Given the description of an element on the screen output the (x, y) to click on. 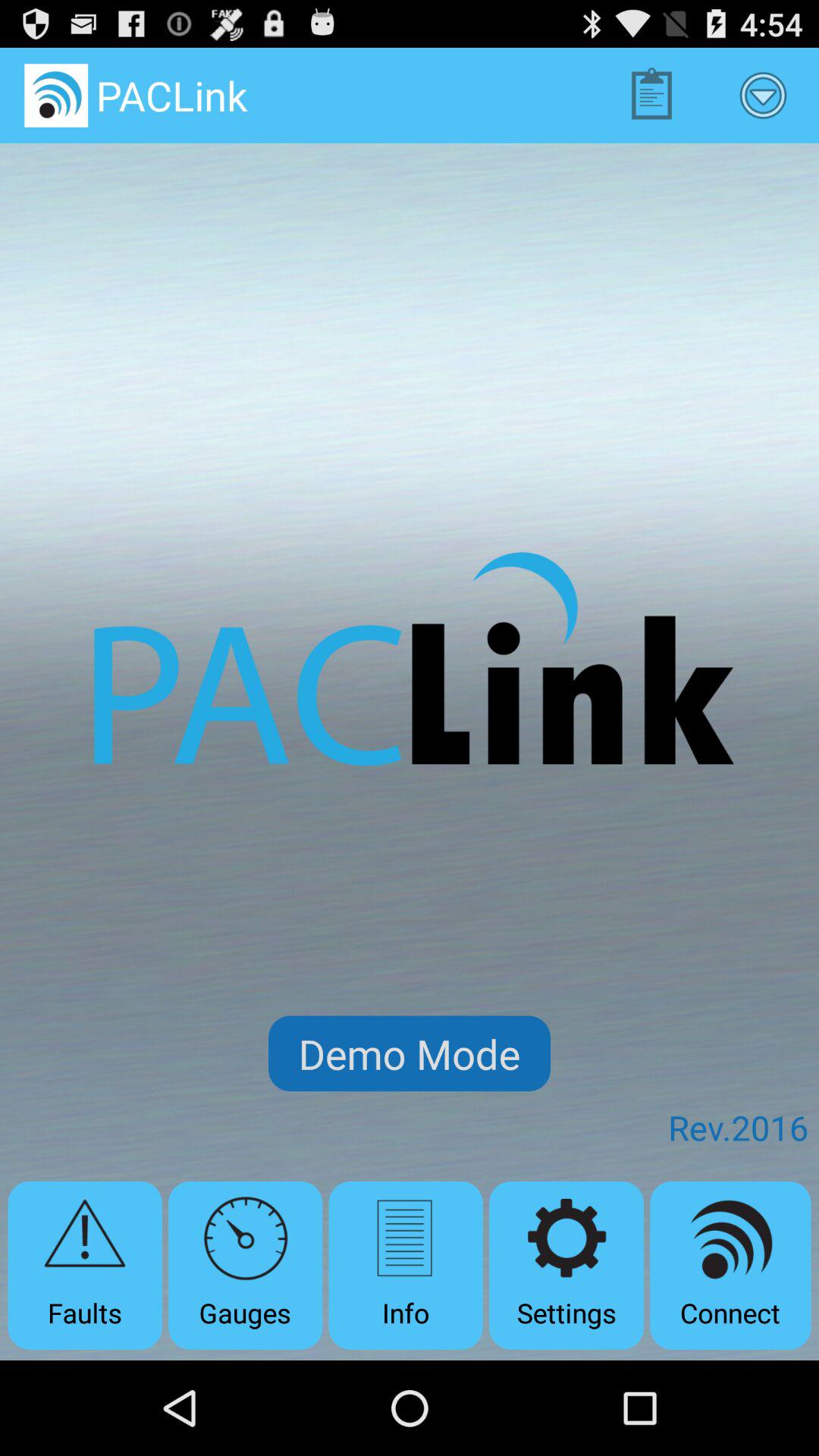
open icon next to paclink item (651, 95)
